Given the description of an element on the screen output the (x, y) to click on. 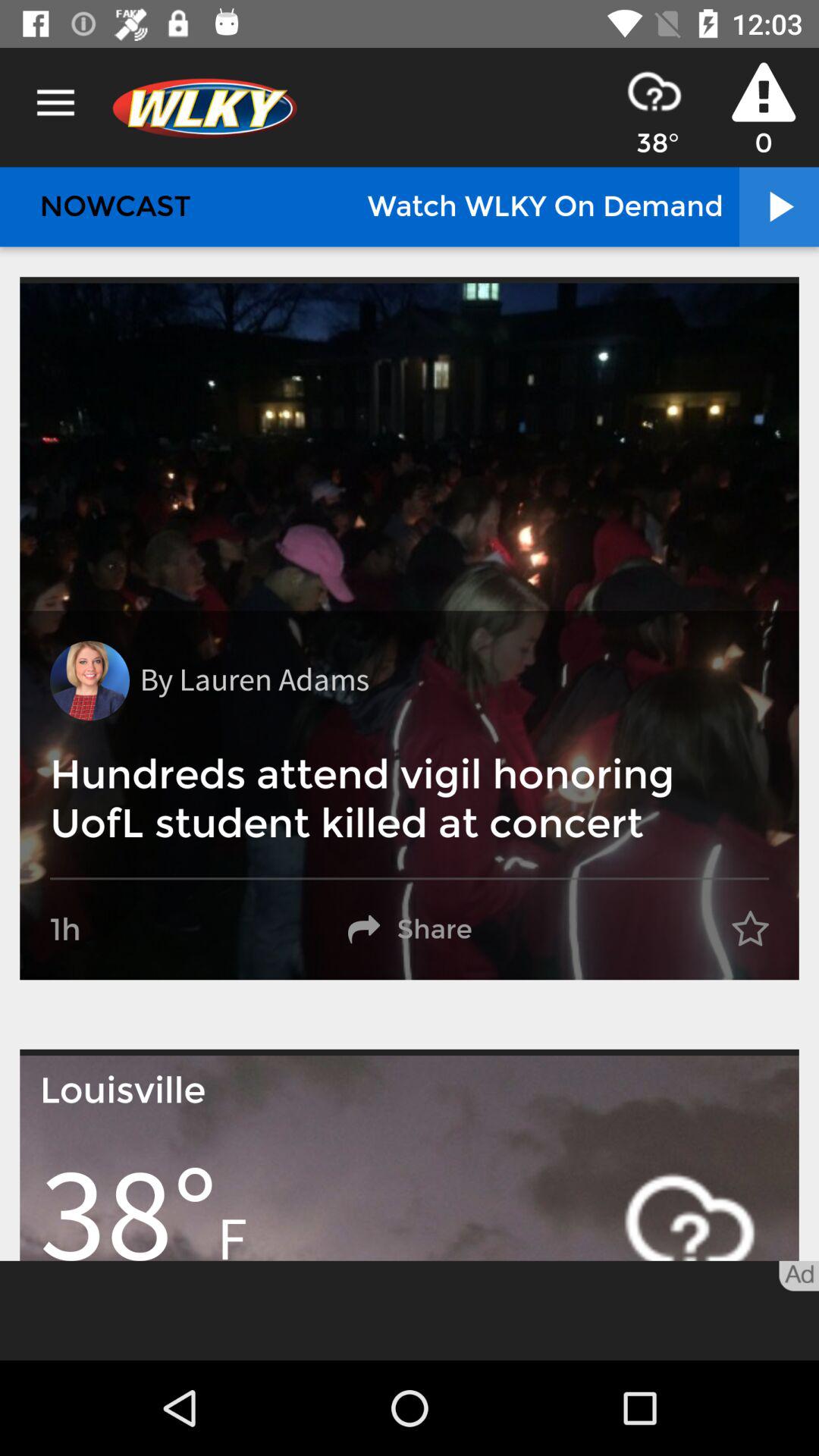
launch the by lauren adams icon (254, 680)
